Given the description of an element on the screen output the (x, y) to click on. 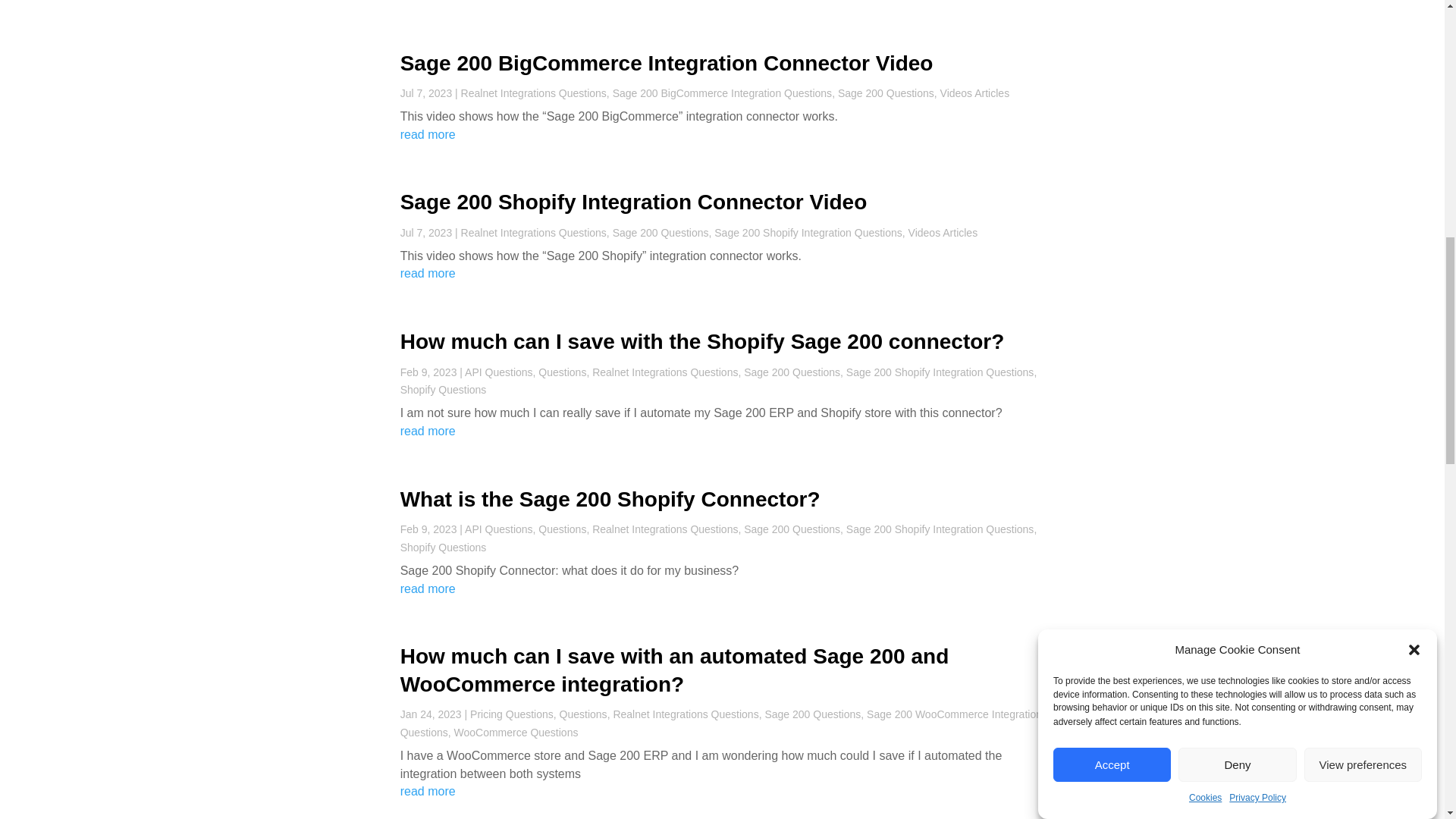
Cookies (1205, 141)
Accept (1111, 234)
Deny (1236, 218)
View preferences (1363, 188)
Privacy Policy (1256, 130)
